Given the description of an element on the screen output the (x, y) to click on. 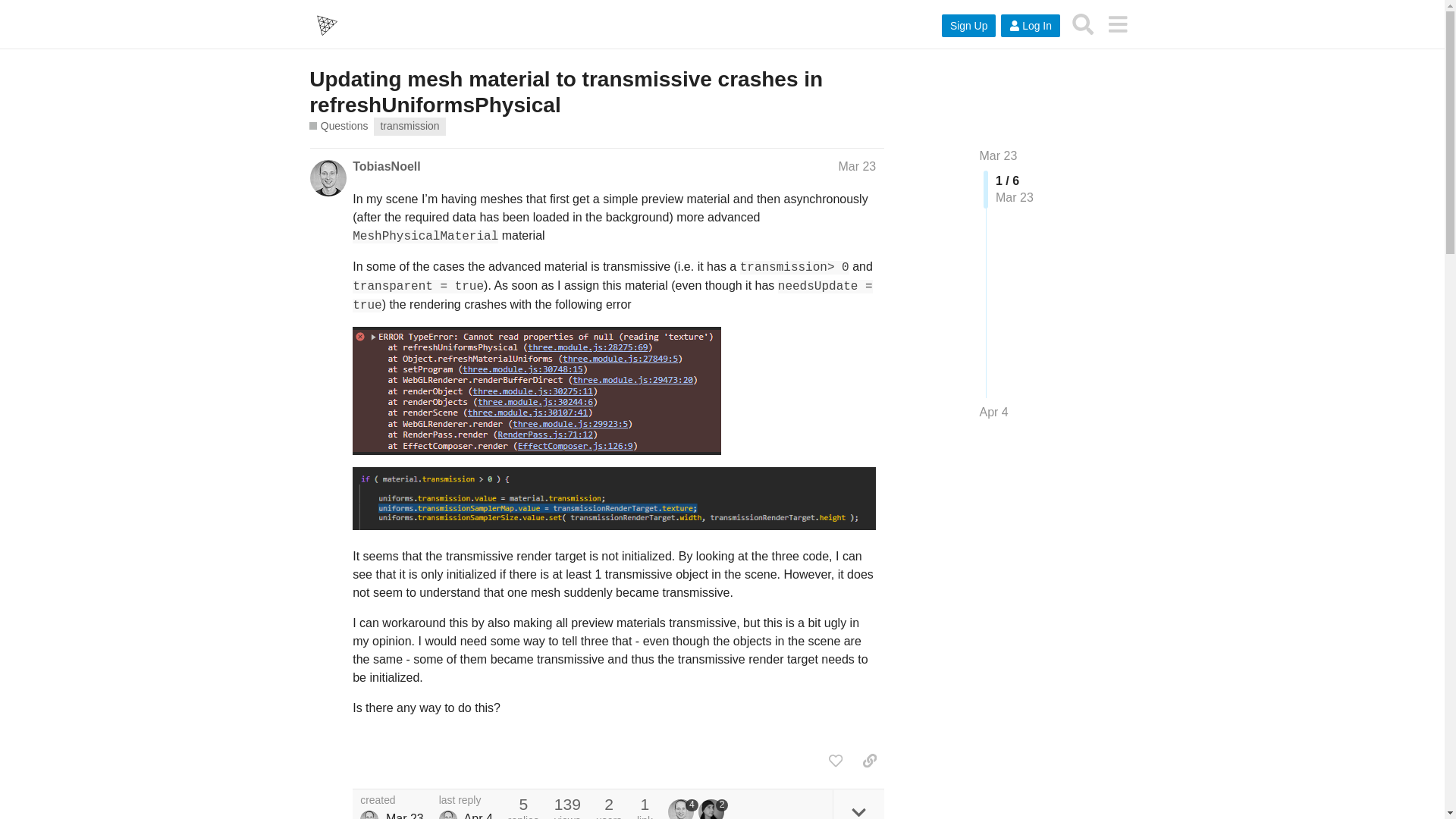
Sign Up (968, 25)
expand topic details (857, 804)
menu (1117, 23)
Apr 4 (994, 412)
copy a link to this post to clipboard (869, 760)
last reply (466, 800)
Mar 23 (998, 155)
Search (1082, 23)
transmission (409, 126)
TobiasNoell (386, 166)
Jump to the last post (994, 411)
Jump to the first post (998, 155)
Log In (1030, 25)
